Given the description of an element on the screen output the (x, y) to click on. 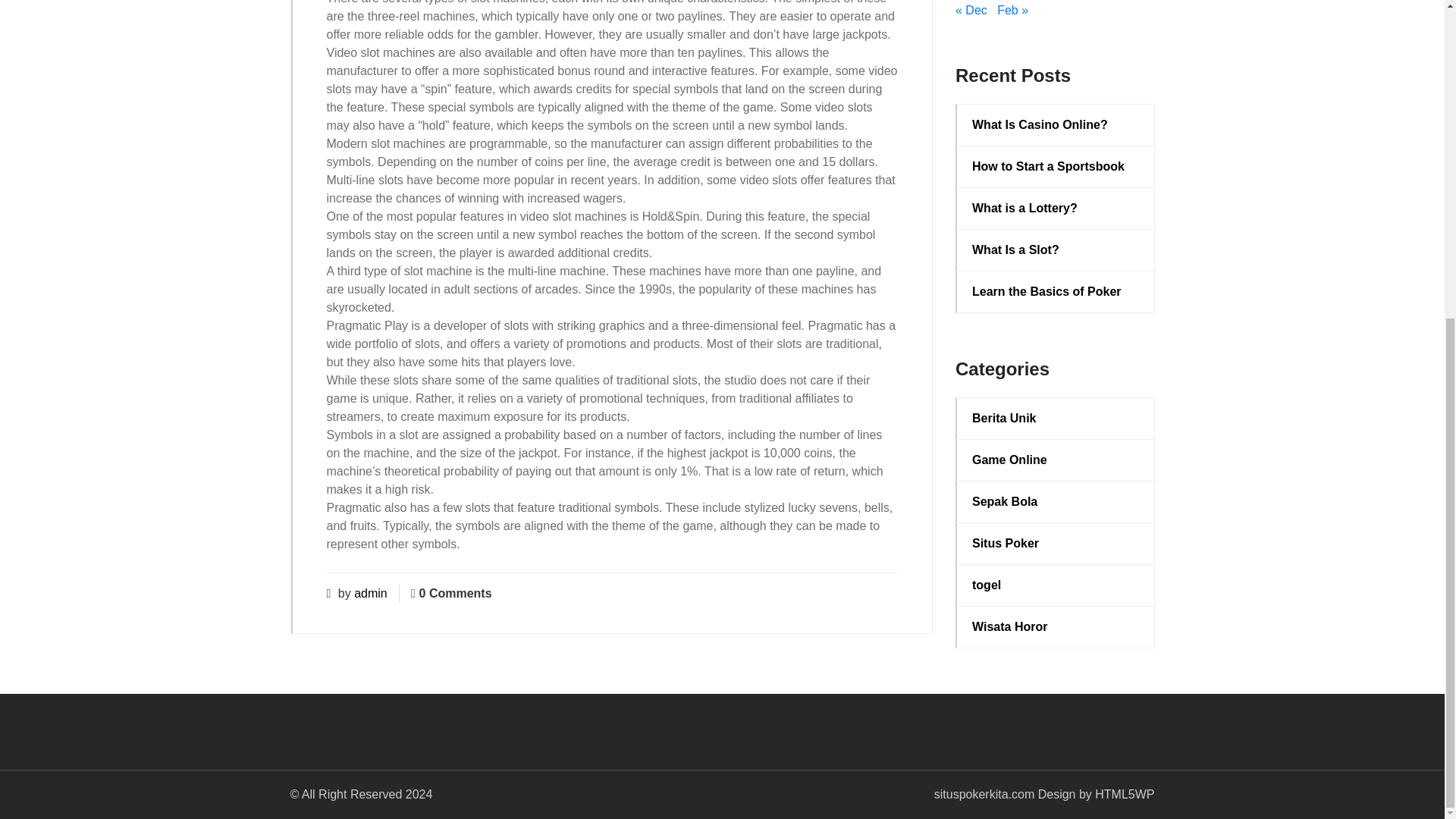
Berita Unik (1055, 418)
Learn the Basics of Poker (1055, 291)
What Is Casino Online? (1055, 125)
admin (370, 593)
What is a Lottery? (1055, 208)
What Is a Slot? (1055, 249)
How to Start a Sportsbook (1055, 167)
Game Online (1055, 460)
